Given the description of an element on the screen output the (x, y) to click on. 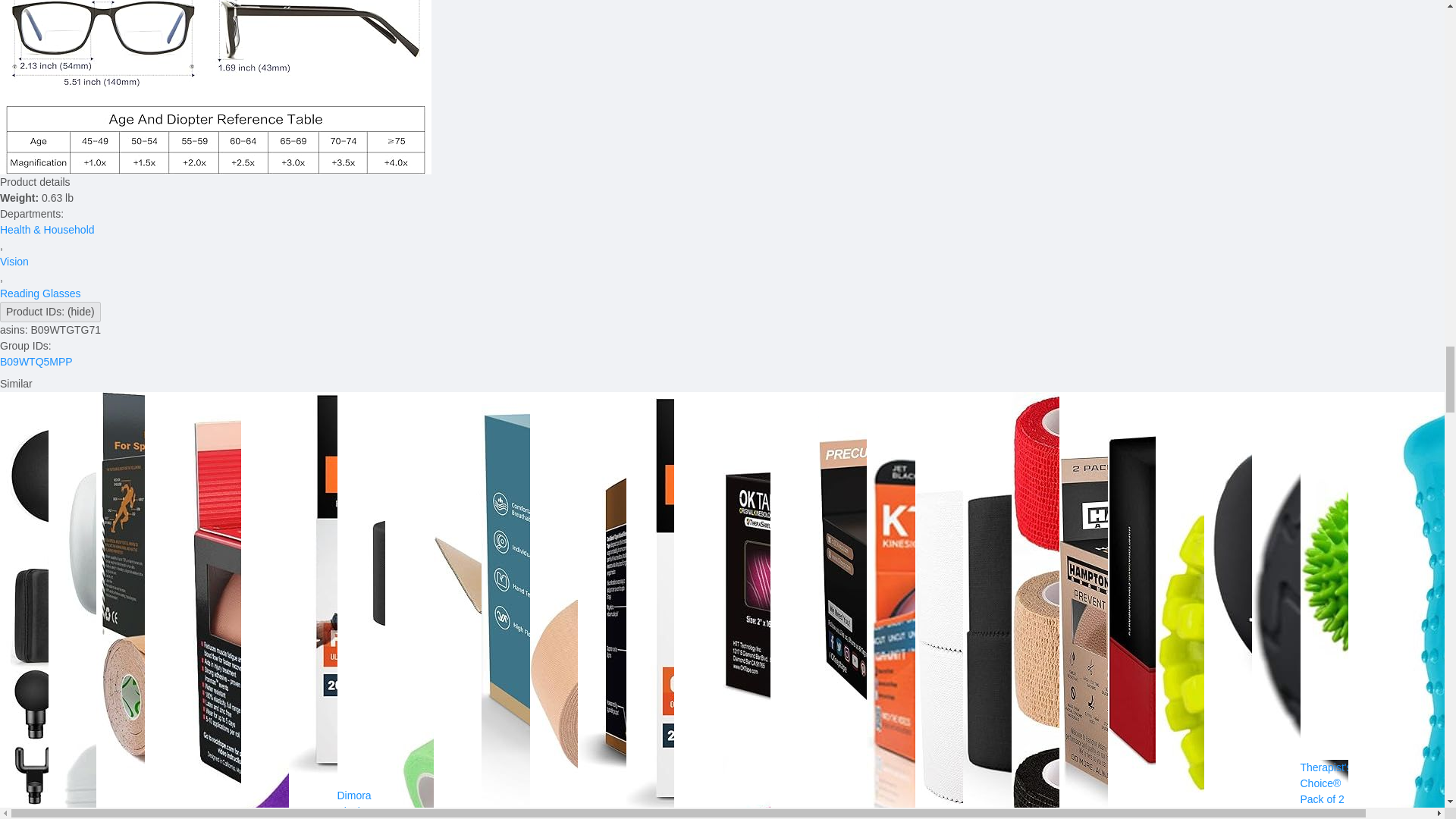
TOLOCO Muscle Massager, 10 Heads, Electric Massager, Carbon (24, 815)
B09WTQ5MPP (36, 361)
Vision (14, 261)
Reading Glasses (40, 293)
